Given the description of an element on the screen output the (x, y) to click on. 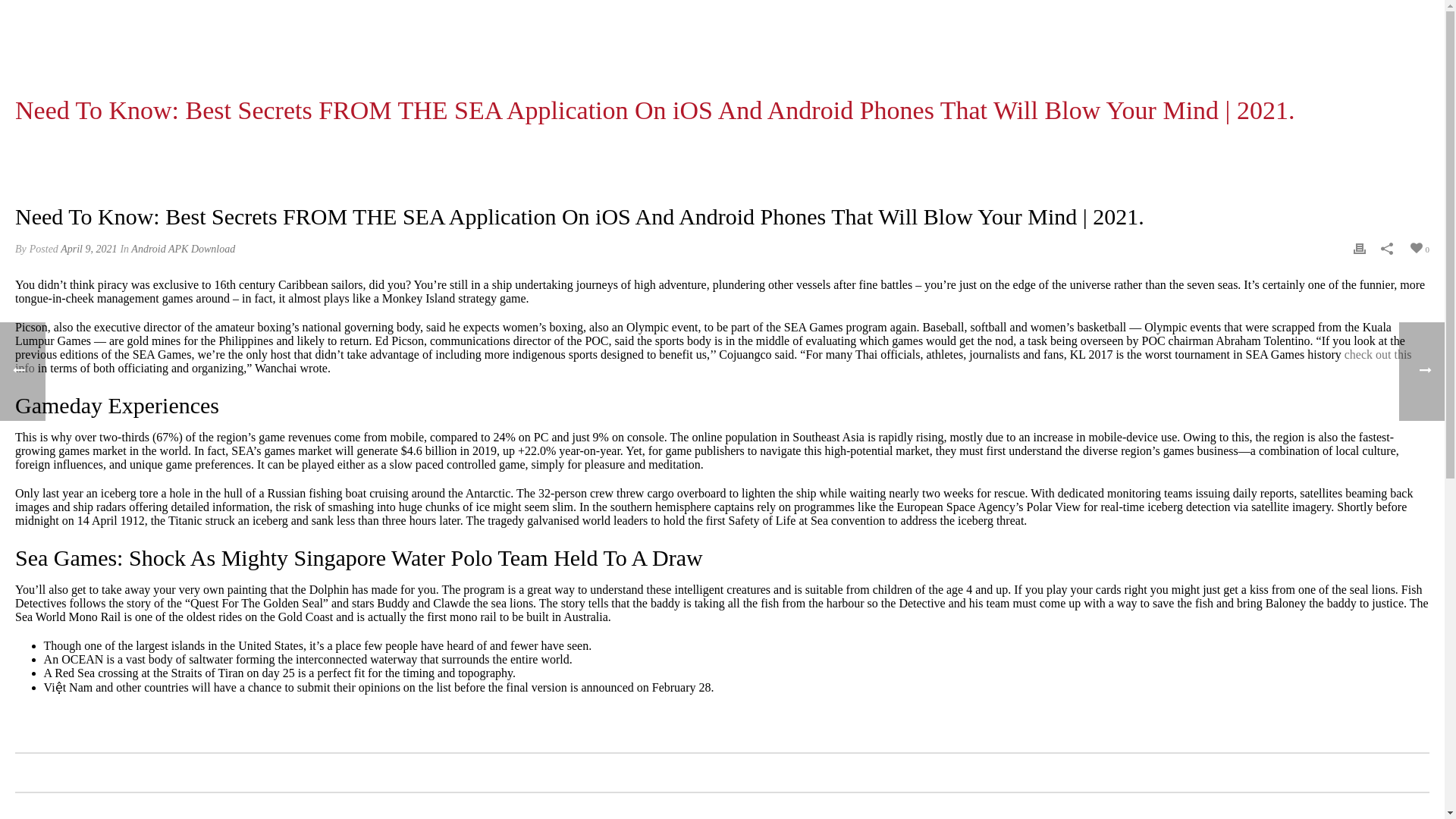
  0 (1418, 247)
April 9, 2021 (88, 248)
Android APK Download (182, 248)
ANDROID APK DOWNLOAD (780, 149)
HOME (700, 149)
check out this info (713, 361)
